Given the description of an element on the screen output the (x, y) to click on. 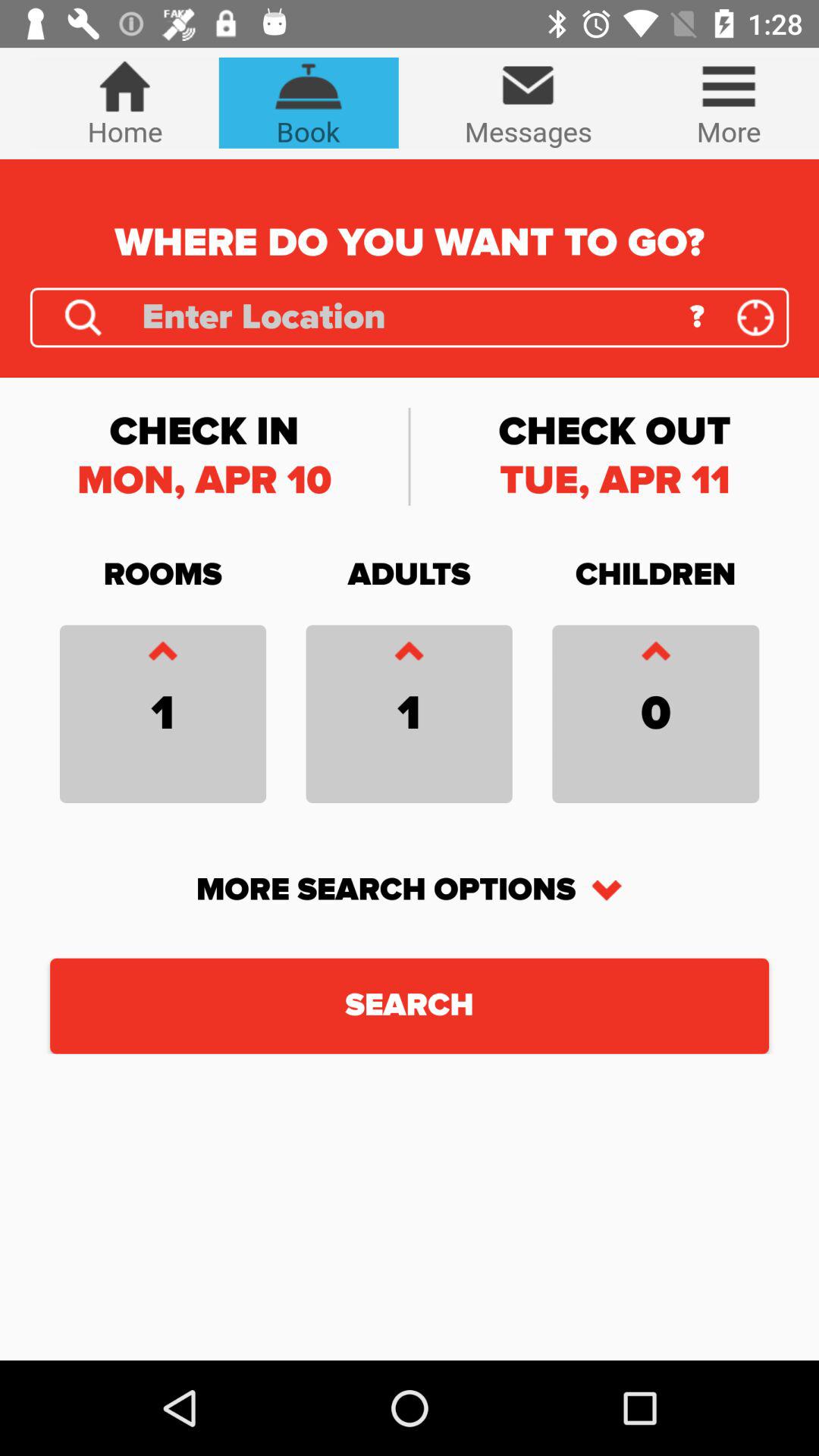
select location (755, 317)
